Given the description of an element on the screen output the (x, y) to click on. 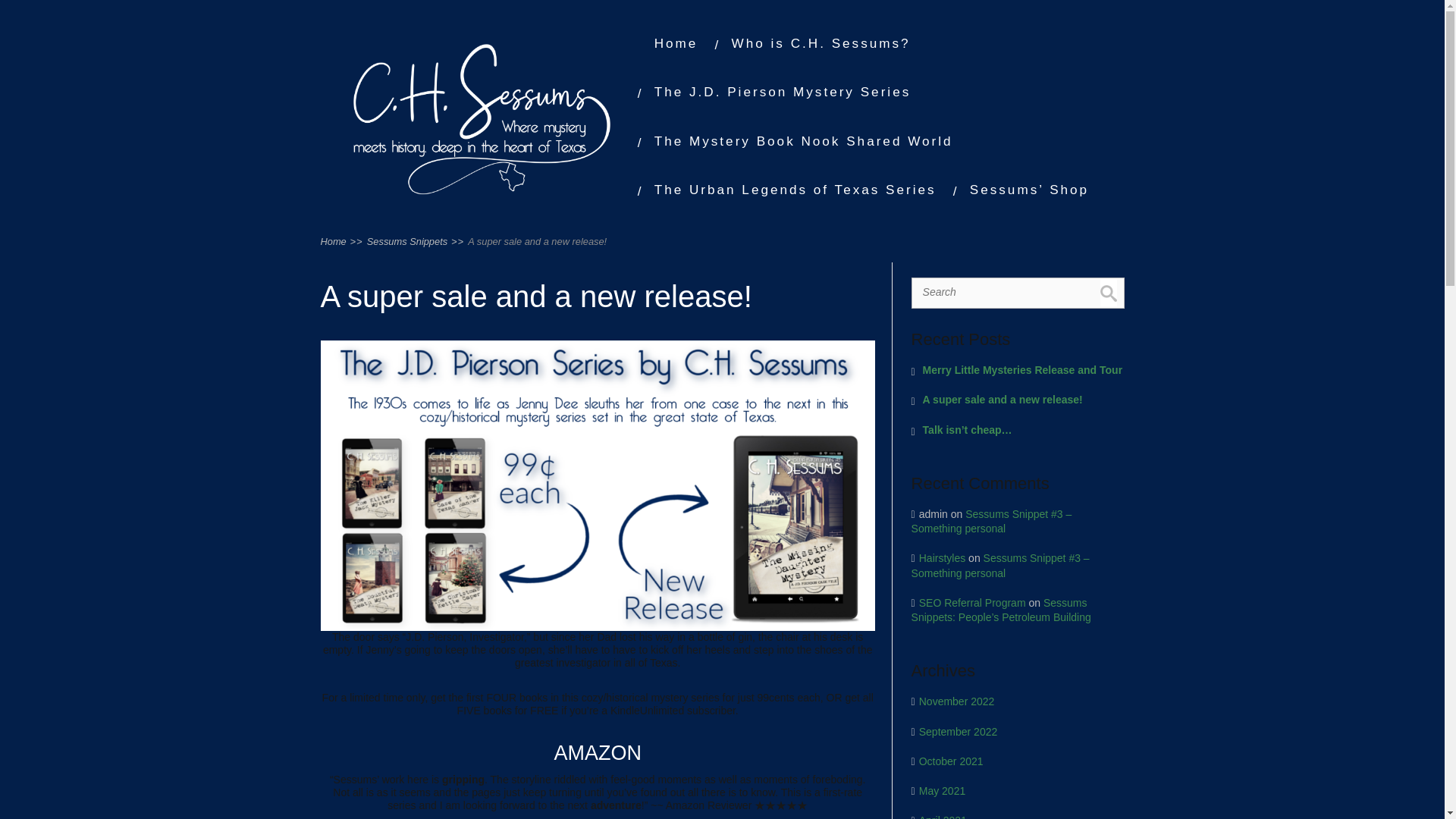
The Urban Legends of Texas Series (794, 189)
The J.D. Pierson Mystery Series (782, 91)
The Mystery Book Nook Shared World (803, 140)
October 2021 (951, 761)
Who is C.H. Sessums? (821, 43)
Merry Little Mysteries Release and Tour (1017, 370)
AMAZON (597, 753)
April 2021 (942, 816)
Home (676, 43)
May 2021 (941, 790)
A super sale and a new release! (1017, 400)
Hairstyles (941, 558)
November 2022 (956, 701)
September 2022 (957, 731)
SEO Referral Program (972, 603)
